Given the description of an element on the screen output the (x, y) to click on. 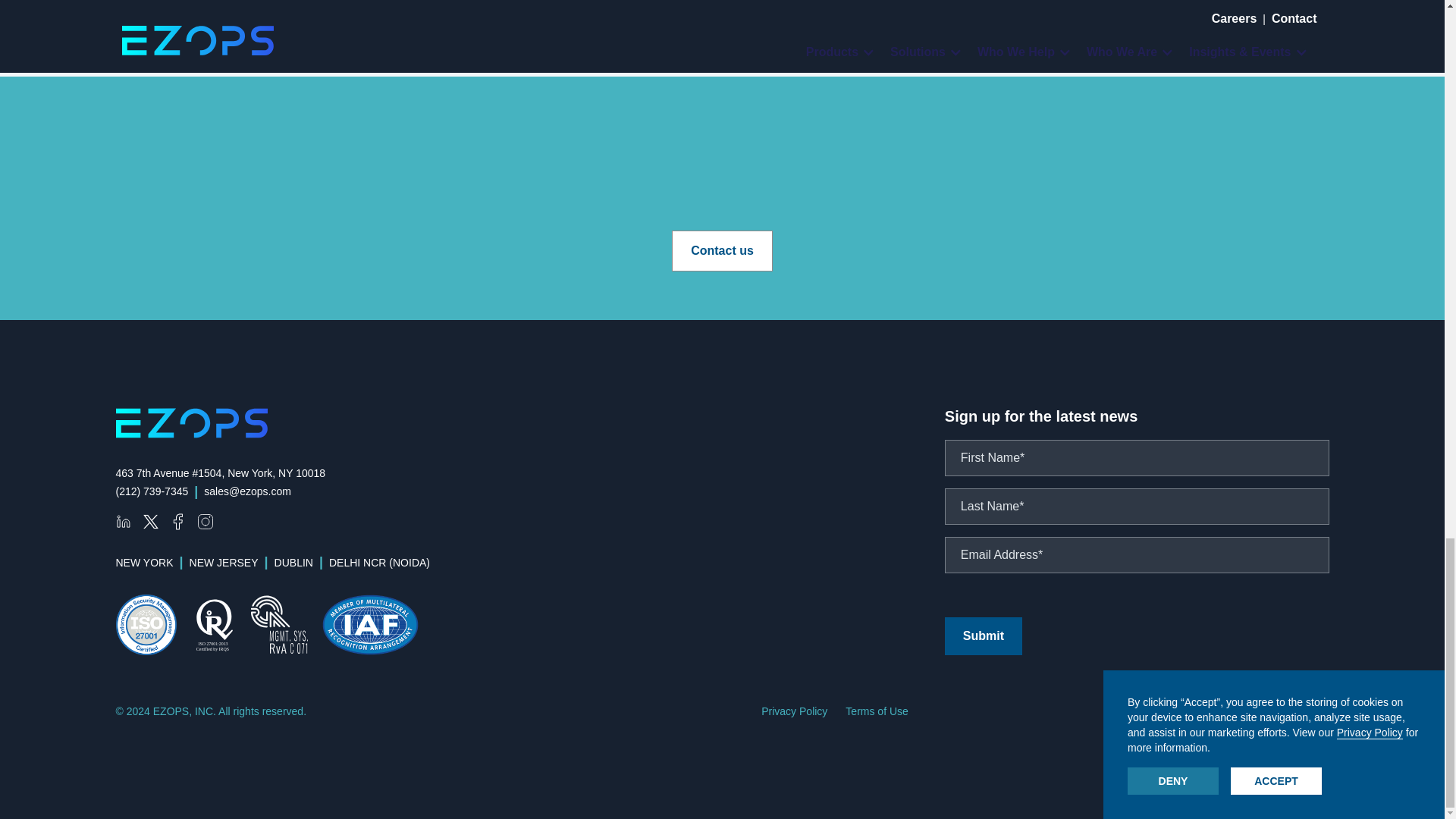
Submit (983, 636)
Submit (983, 636)
